Given the description of an element on the screen output the (x, y) to click on. 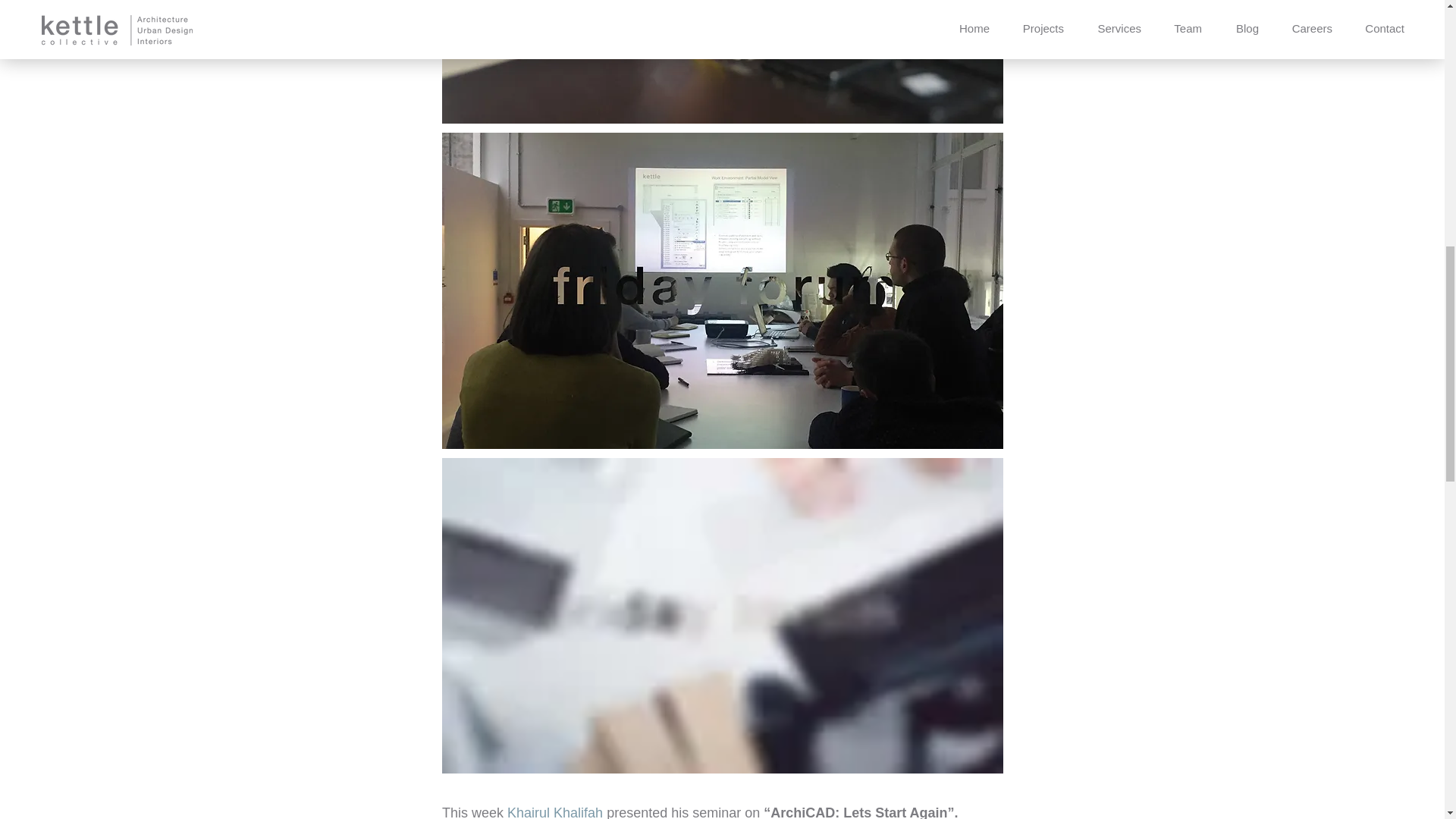
Khairul Khalifah (554, 812)
